Given the description of an element on the screen output the (x, y) to click on. 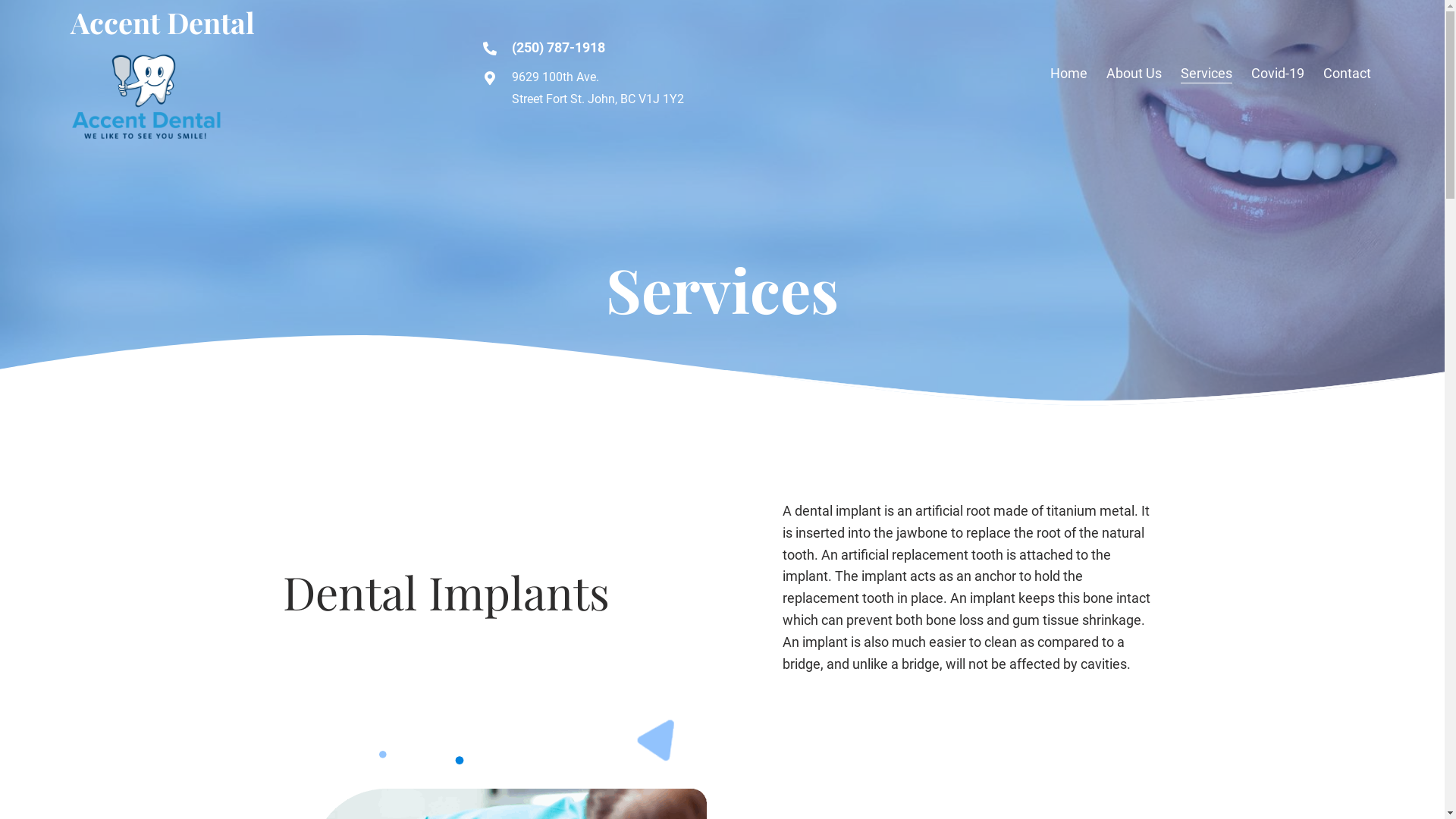
Home Element type: text (1068, 73)
(250) 787-1918 Element type: text (558, 47)
About Us Element type: text (1133, 73)
Covid-19 Element type: text (1277, 73)
Services Element type: text (1206, 73)
9629 100th Ave.
Street Fort St. John, BC V1J 1Y2 Element type: text (597, 87)
Contact Element type: text (1347, 73)
Accent Dental Element type: text (161, 22)
